Given the description of an element on the screen output the (x, y) to click on. 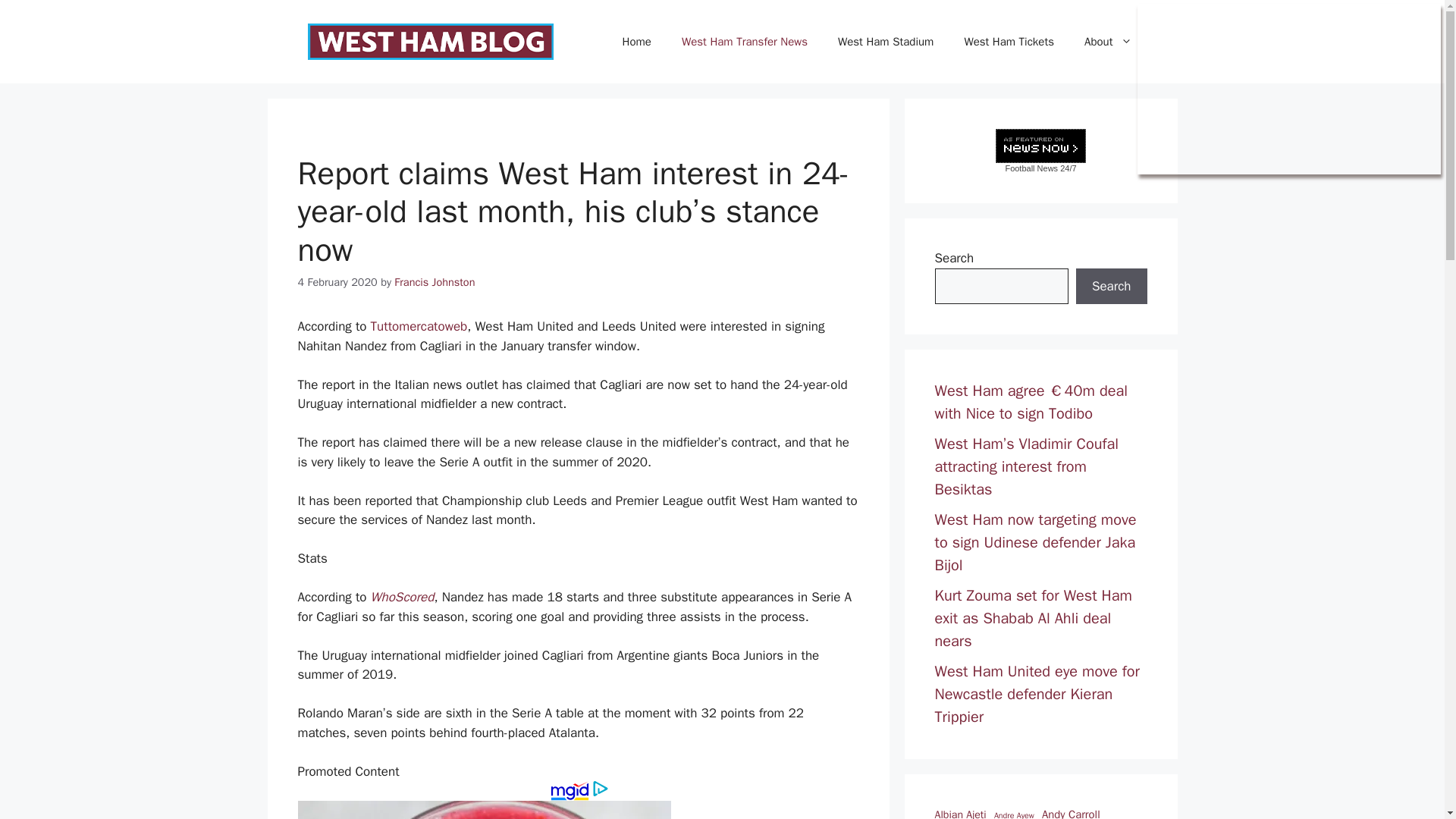
Home (636, 41)
WhoScored (402, 596)
Andy Carroll (1071, 812)
West Ham Transfer News (744, 41)
Click here for more Football news from NewsNow (1040, 150)
Francis Johnston (434, 282)
West Ham Tickets (1008, 41)
Search (1111, 286)
View all posts by Francis Johnston (434, 282)
